Given the description of an element on the screen output the (x, y) to click on. 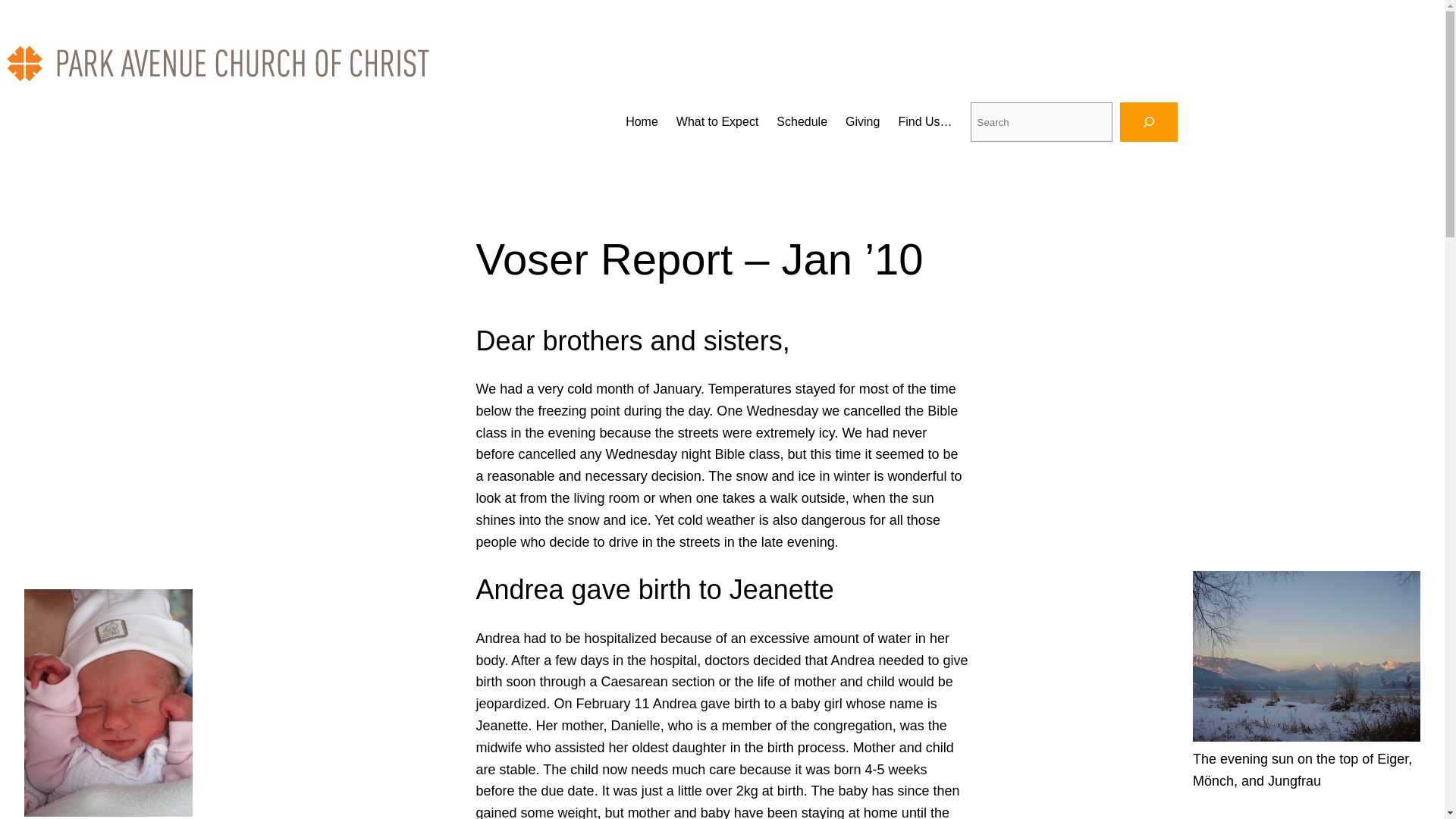
Schedule (801, 121)
What to Expect (717, 121)
Pic 1 (1306, 656)
Home (642, 121)
Giving (862, 121)
